Given the description of an element on the screen output the (x, y) to click on. 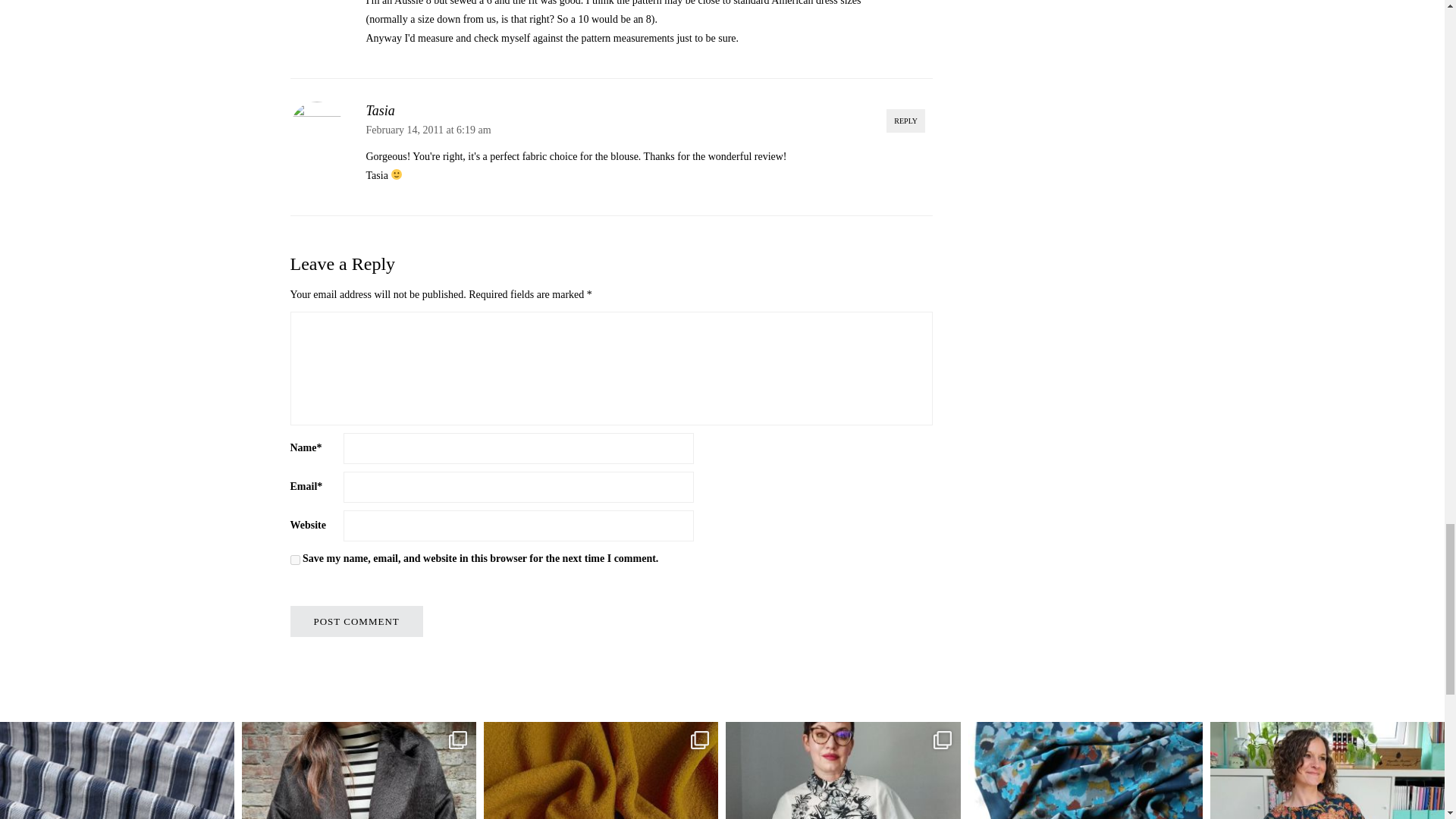
Post comment (355, 621)
yes (294, 560)
